Given the description of an element on the screen output the (x, y) to click on. 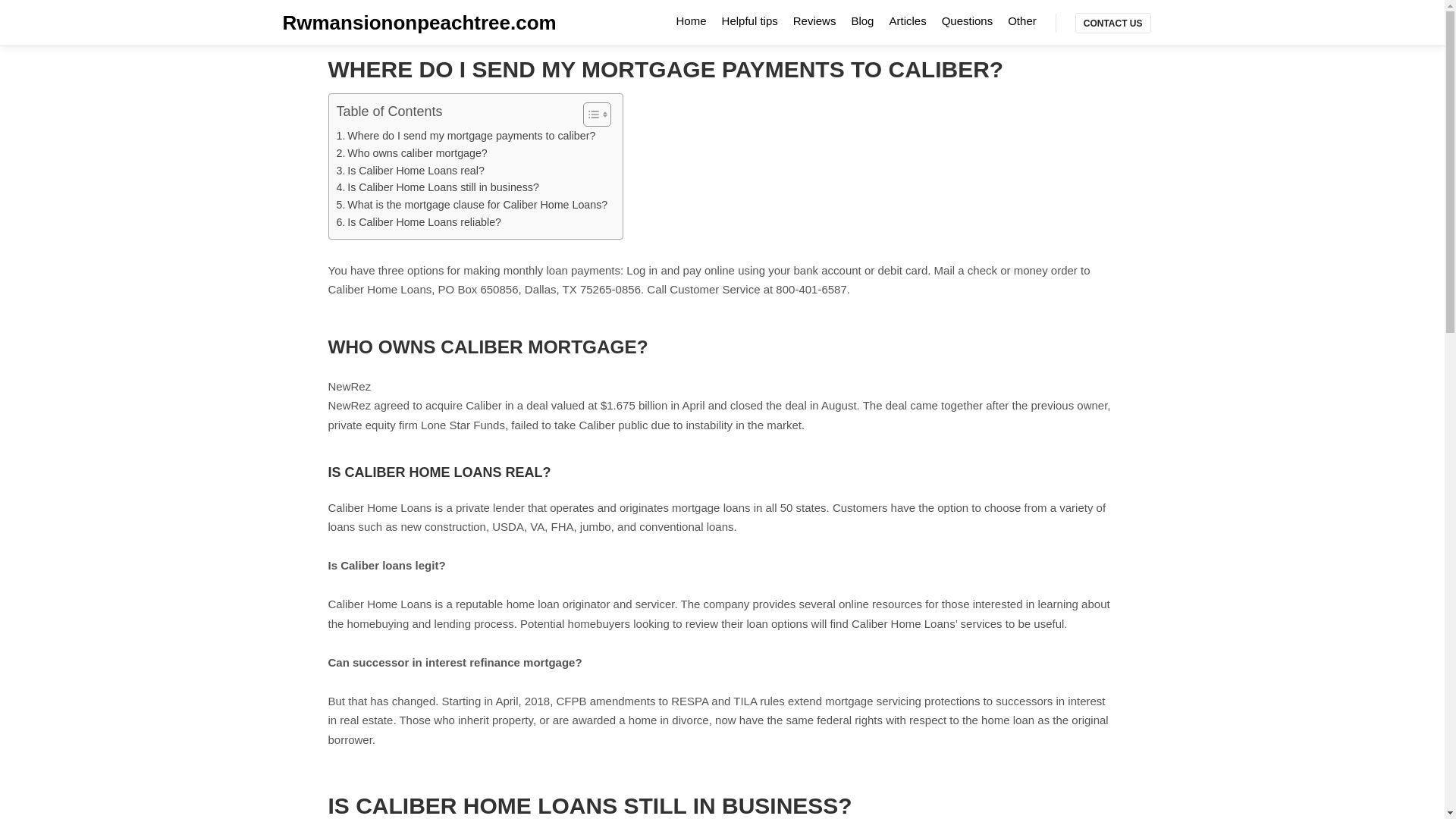
Is Caliber Home Loans still in business? (437, 187)
Helpful tips (750, 20)
Who owns caliber mortgage? (411, 153)
Is Caliber Home Loans reliable? (419, 221)
Questions (967, 20)
Home (691, 20)
Is Caliber Home Loans real? (410, 170)
Where do I send my mortgage payments to caliber? (465, 135)
Rwmansiononpeachtree.com (357, 22)
What is the mortgage clause for Caliber Home Loans? (472, 204)
CONTACT US (1113, 22)
What is the mortgage clause for Caliber Home Loans? (472, 204)
Articles (906, 20)
Blog (861, 20)
Rwmansiononpeachtree.com (357, 22)
